Given the description of an element on the screen output the (x, y) to click on. 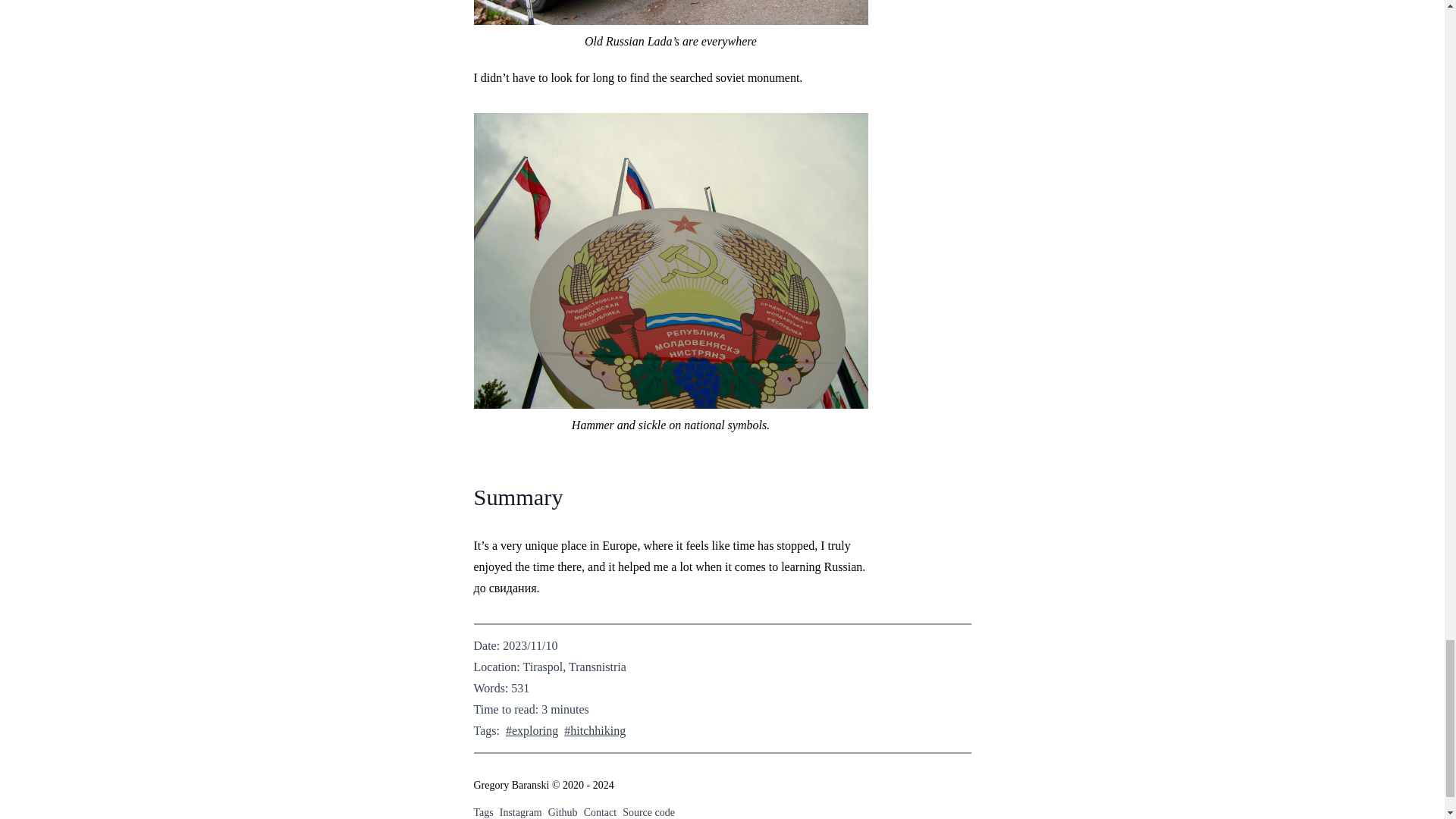
Tags (483, 812)
